Given the description of an element on the screen output the (x, y) to click on. 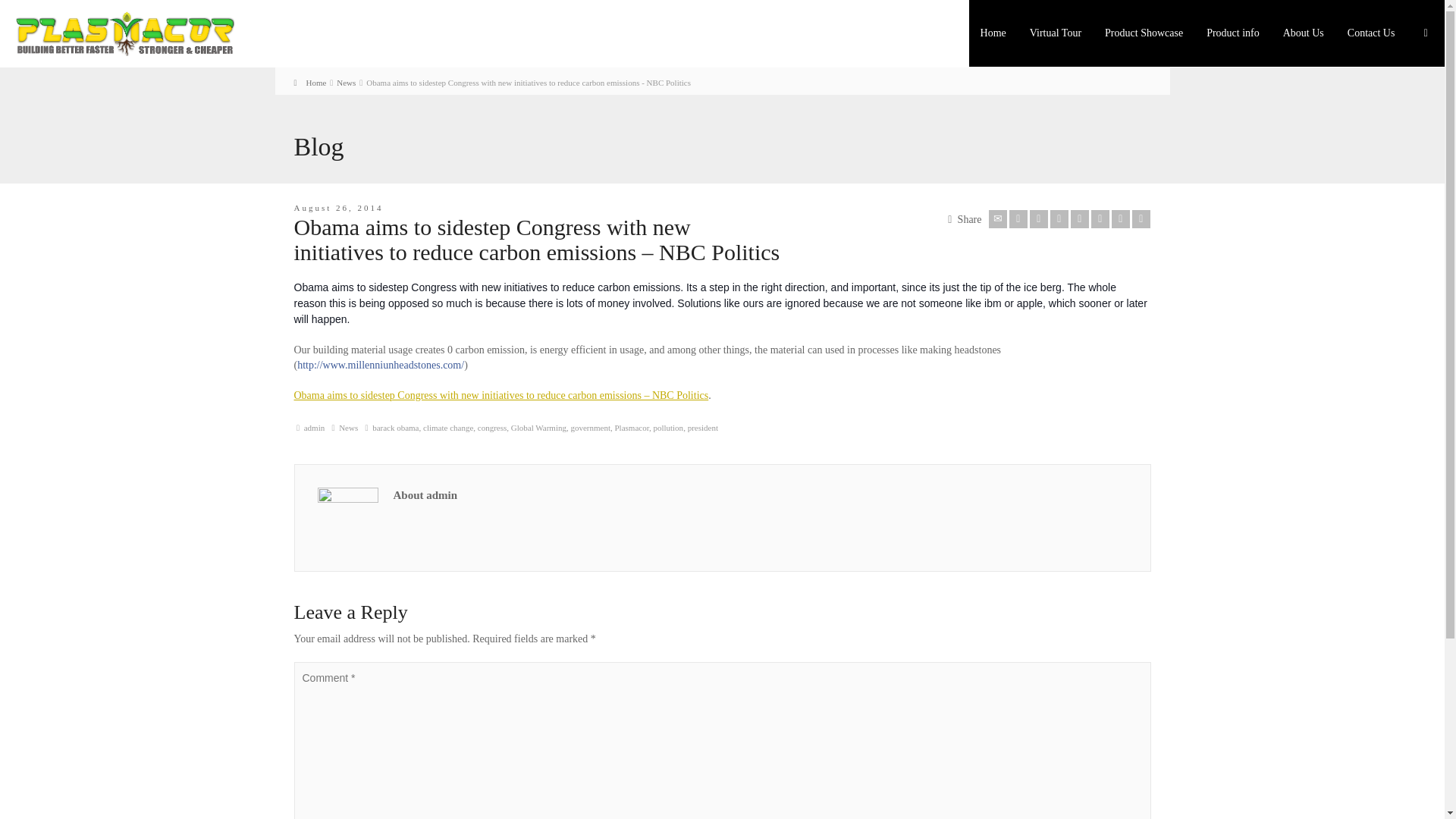
Vkontakte (1141, 218)
admin (314, 427)
Email (997, 218)
congress (491, 427)
president (702, 427)
Virtual Tour (1055, 33)
Plasmacor (630, 427)
Product info (1233, 33)
Facebook (1038, 218)
Contact Us (1371, 33)
Home (310, 81)
Pinterest (1079, 218)
pollution (667, 427)
Linkedin (1120, 218)
Tumblr (1099, 218)
